Given the description of an element on the screen output the (x, y) to click on. 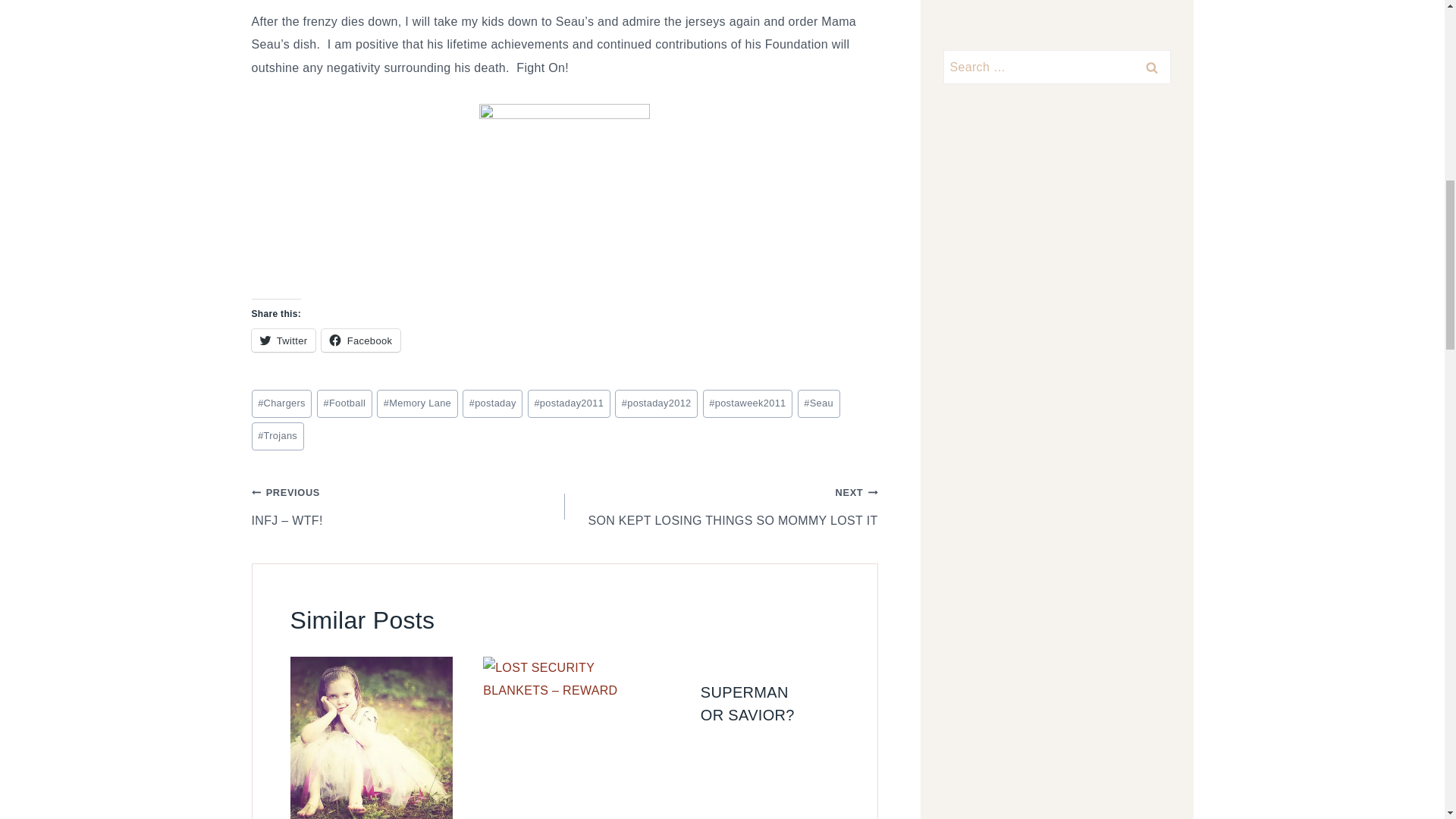
Seau (818, 403)
seau (564, 189)
postaday2012 (655, 403)
postaday2011 (568, 403)
Trojans (720, 506)
Search (277, 436)
postaday (1151, 66)
Twitter (492, 403)
postaweek2011 (283, 340)
